Given the description of an element on the screen output the (x, y) to click on. 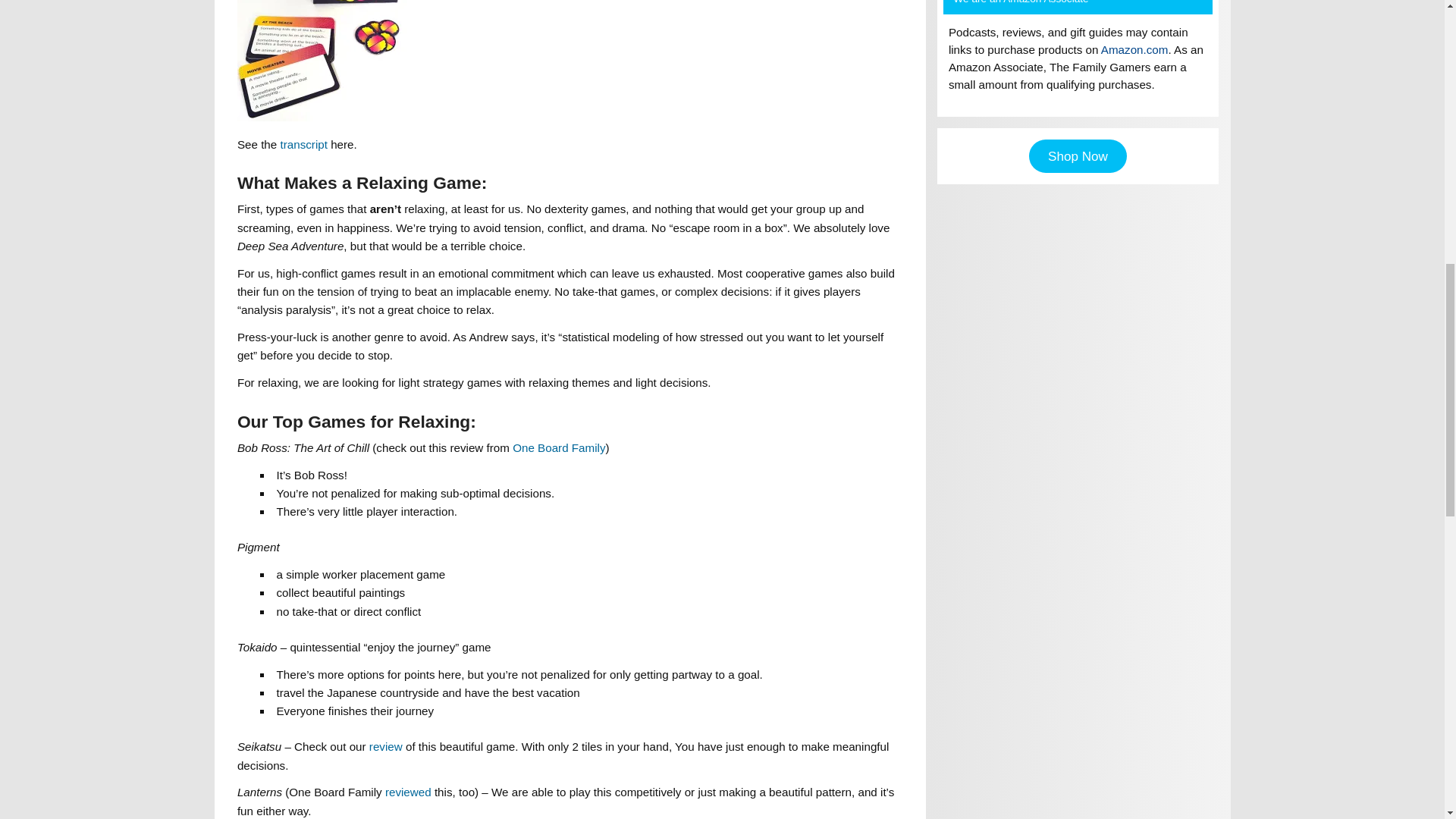
transcript (302, 144)
One Board Family (558, 447)
review (386, 746)
reviewed (407, 791)
